Given the description of an element on the screen output the (x, y) to click on. 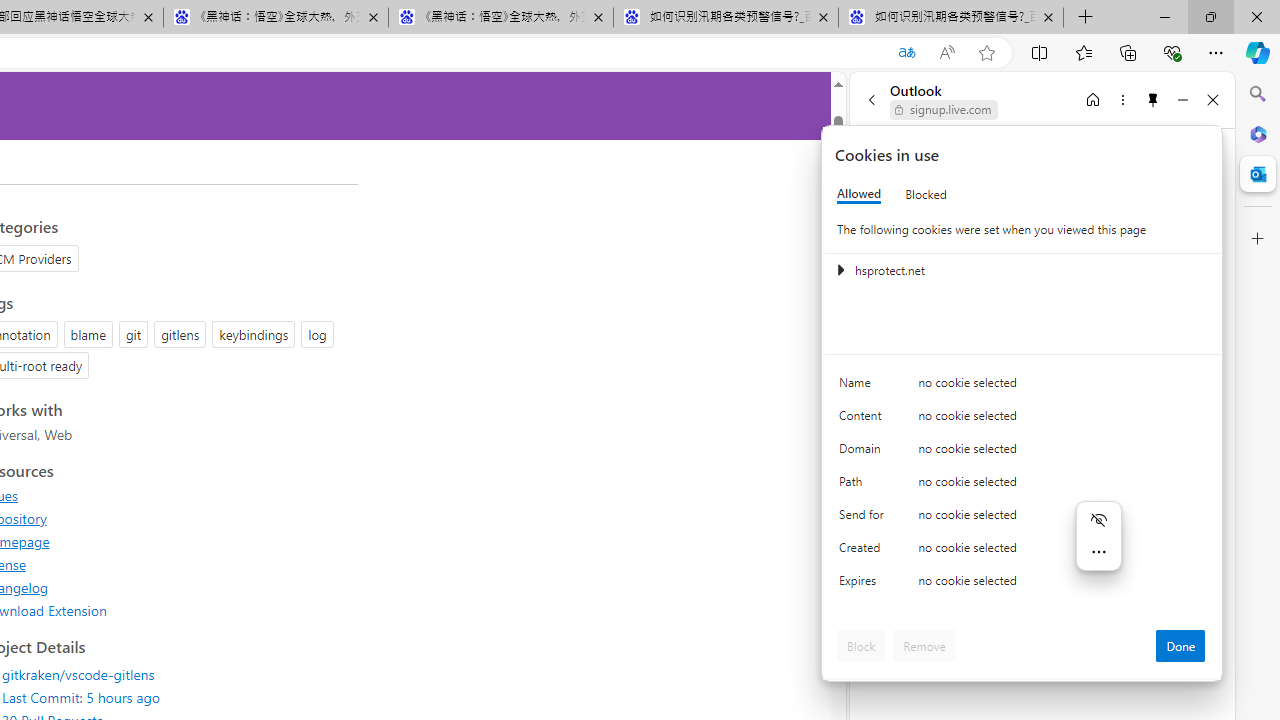
Block (861, 645)
Name (864, 387)
Class: c0153 c0157 c0154 (1023, 386)
Allowed (859, 193)
Domain (864, 452)
Class: c0153 c0157 (1023, 584)
Path (864, 485)
Done (1179, 645)
Blocked (925, 193)
Send for (864, 518)
More actions (1098, 551)
Mini menu on text selection (1098, 548)
Created (864, 552)
Mini menu on text selection (1098, 535)
Content (864, 420)
